Given the description of an element on the screen output the (x, y) to click on. 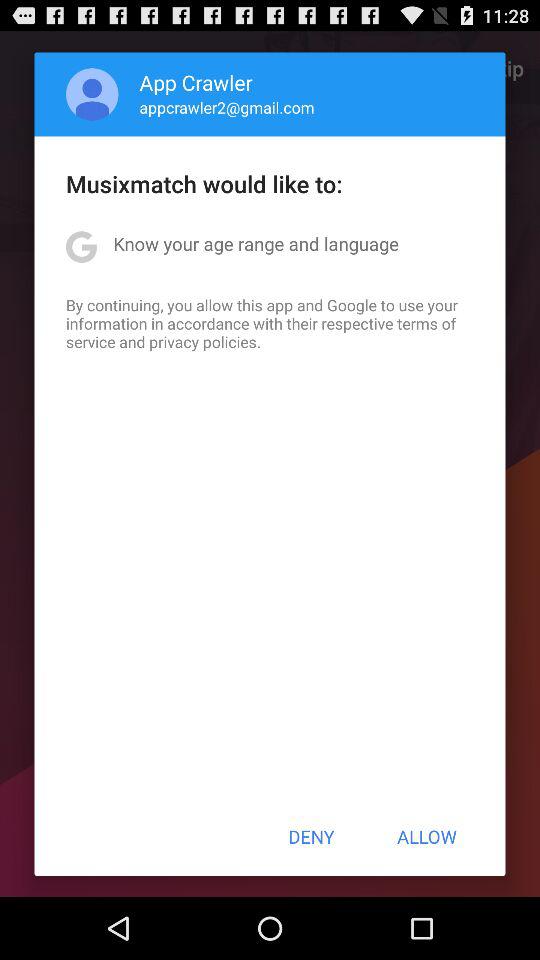
select item to the left of the app crawler icon (92, 94)
